Given the description of an element on the screen output the (x, y) to click on. 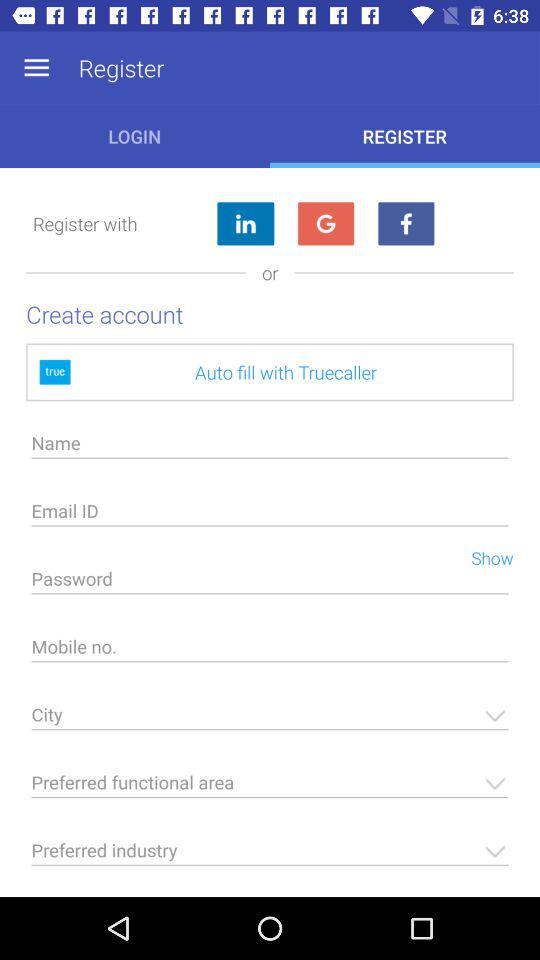
insert your name (269, 448)
